Given the description of an element on the screen output the (x, y) to click on. 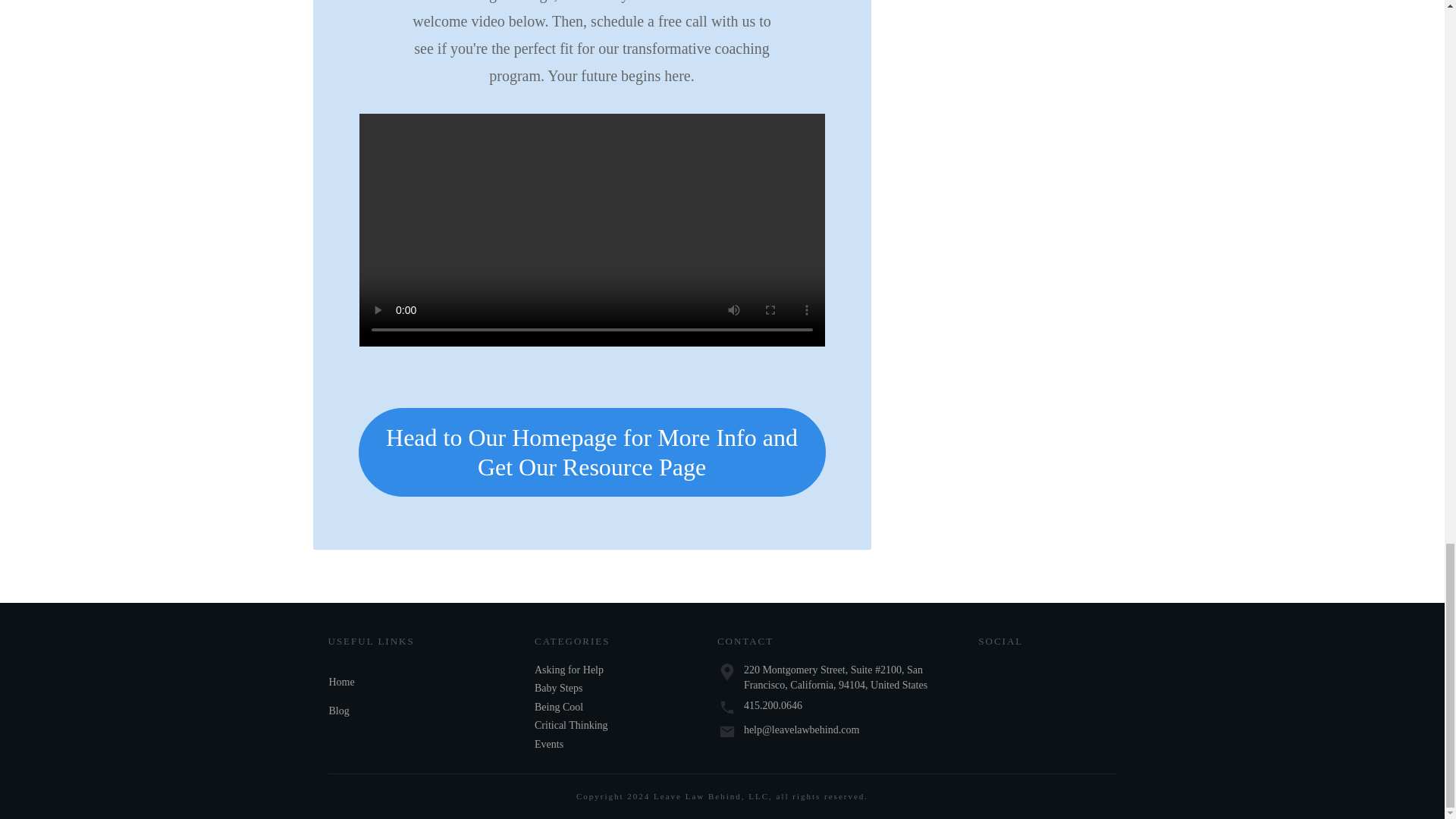
Critical Thinking (571, 725)
Blog (339, 710)
Events (548, 744)
Being Cool (558, 707)
Baby Steps (558, 688)
Asking for Help (569, 669)
Home (342, 681)
Head to Our Homepage for More Info and Get Our Resource Page (591, 451)
